Given the description of an element on the screen output the (x, y) to click on. 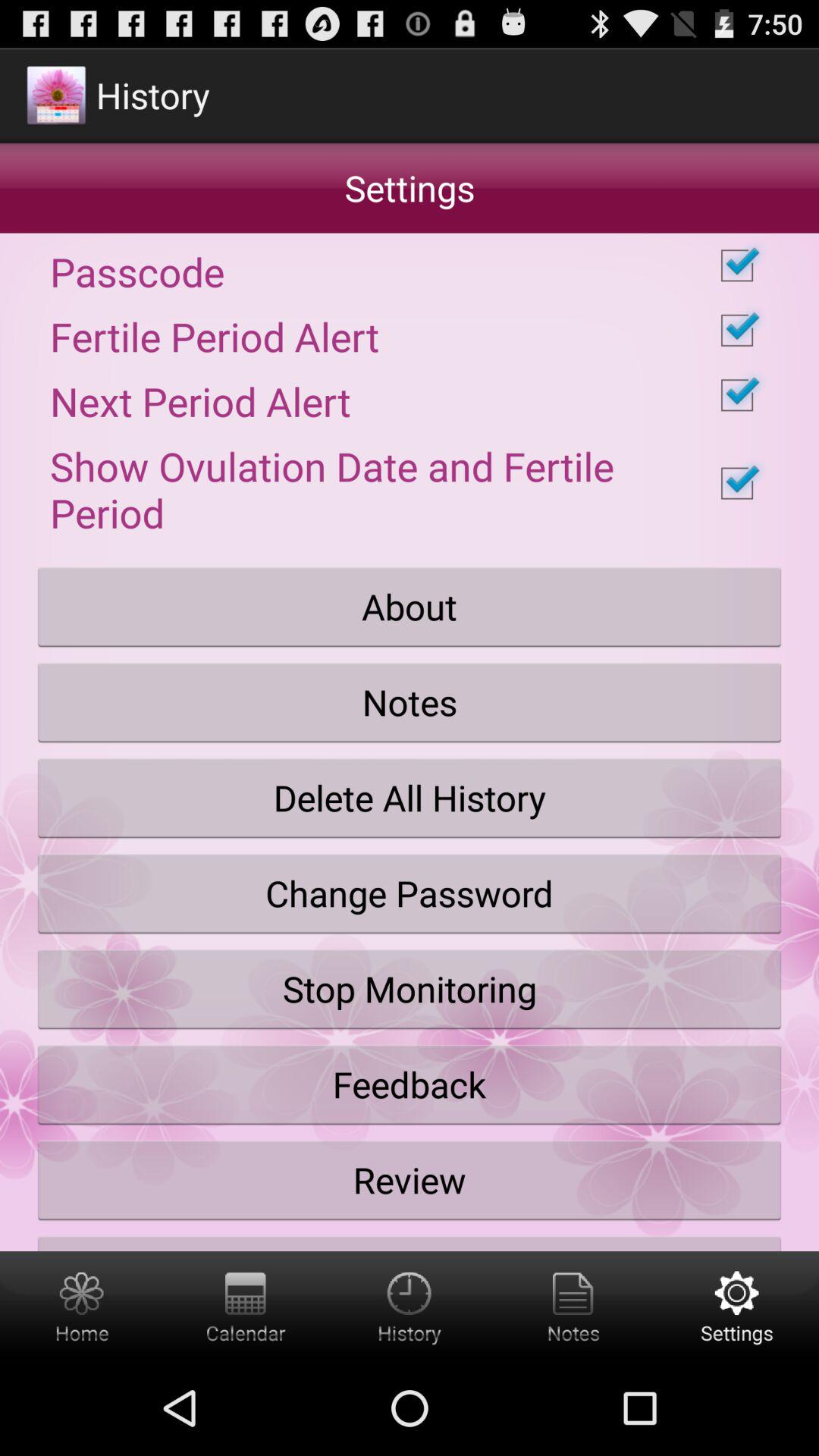
add notes (573, 1305)
